Given the description of an element on the screen output the (x, y) to click on. 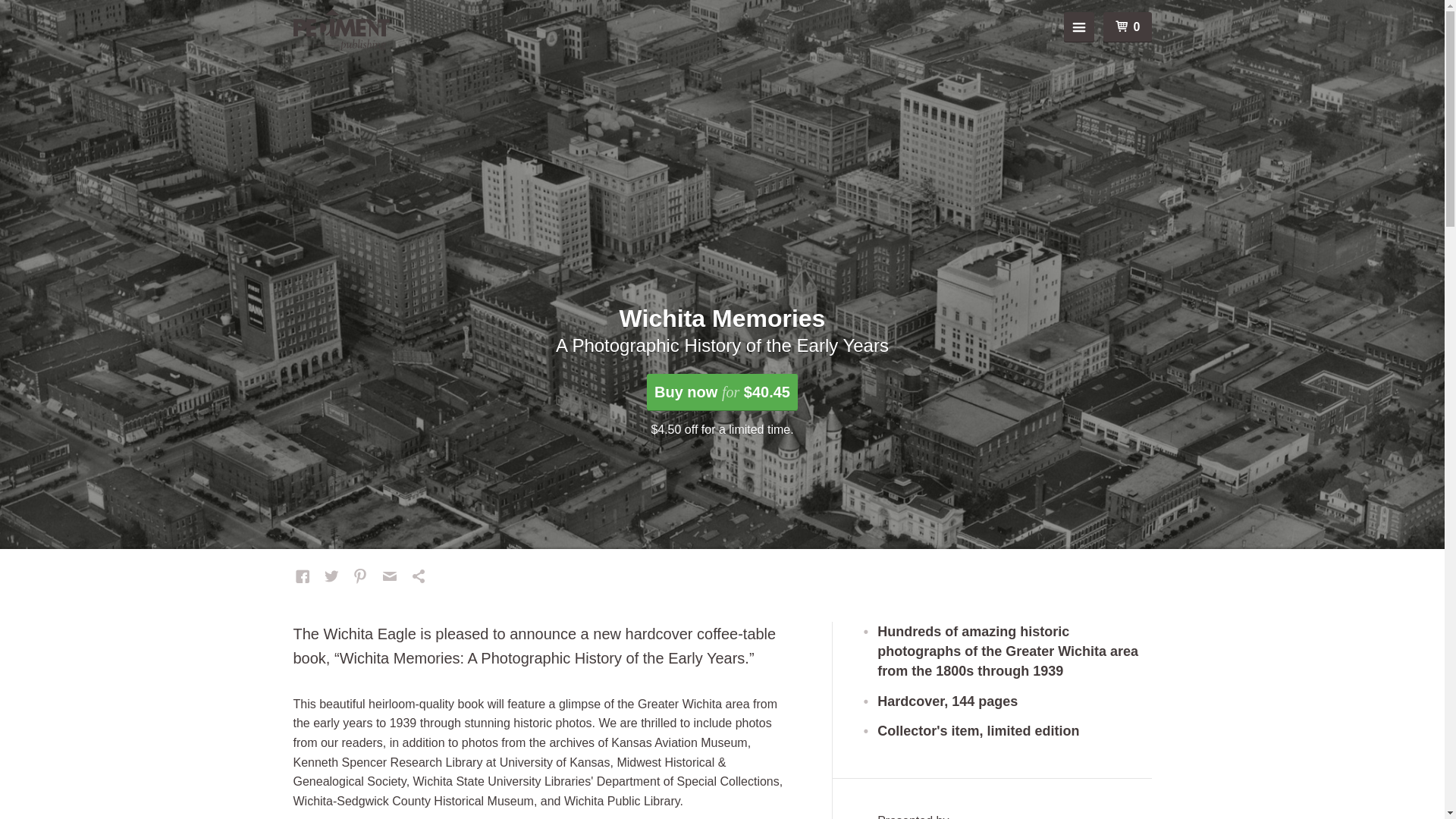
0 (1127, 27)
Pediment (345, 29)
Menu (1079, 27)
